Given the description of an element on the screen output the (x, y) to click on. 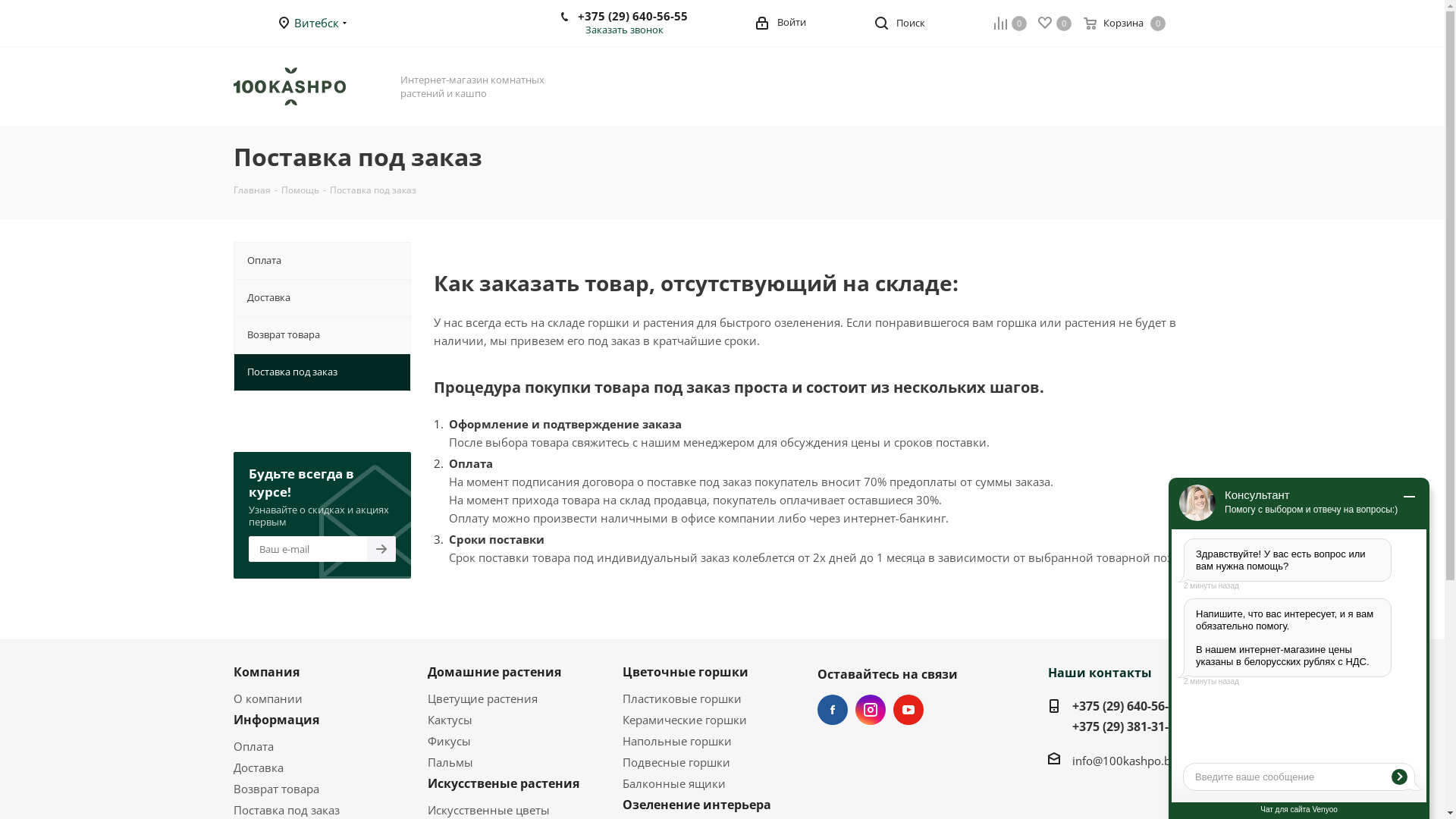
100kashpo.by Element type: hover (289, 86)
YouTube Element type: text (908, 709)
+375 (29) 381-31-49 Element type: text (1129, 726)
+375 (29) 640-56-55 Element type: text (1127, 706)
Instagram Element type: text (870, 709)
Facebook Element type: text (832, 709)
info@100kashpo.by Element type: text (1124, 760)
